Given the description of an element on the screen output the (x, y) to click on. 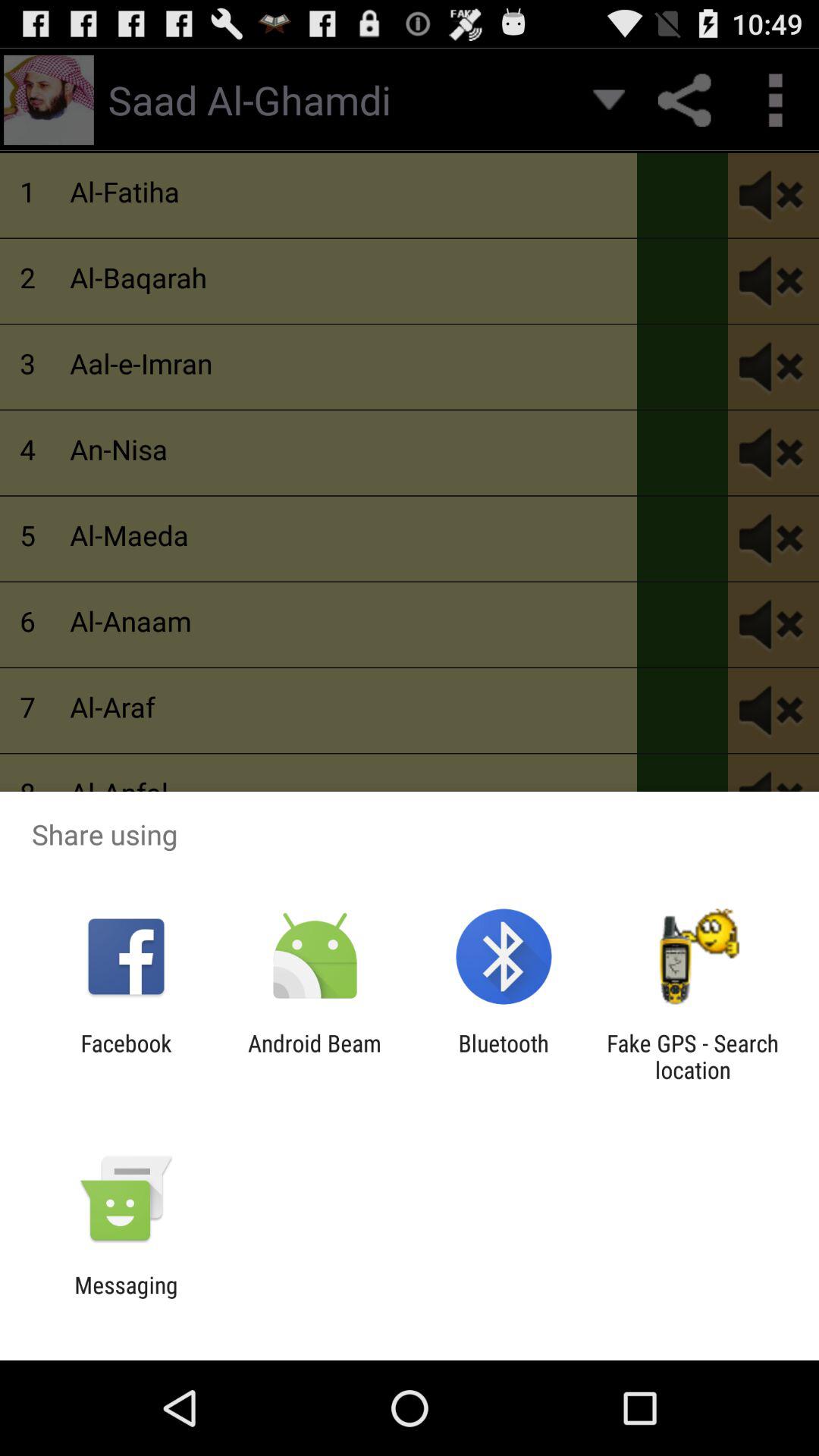
swipe until the messaging app (126, 1298)
